Given the description of an element on the screen output the (x, y) to click on. 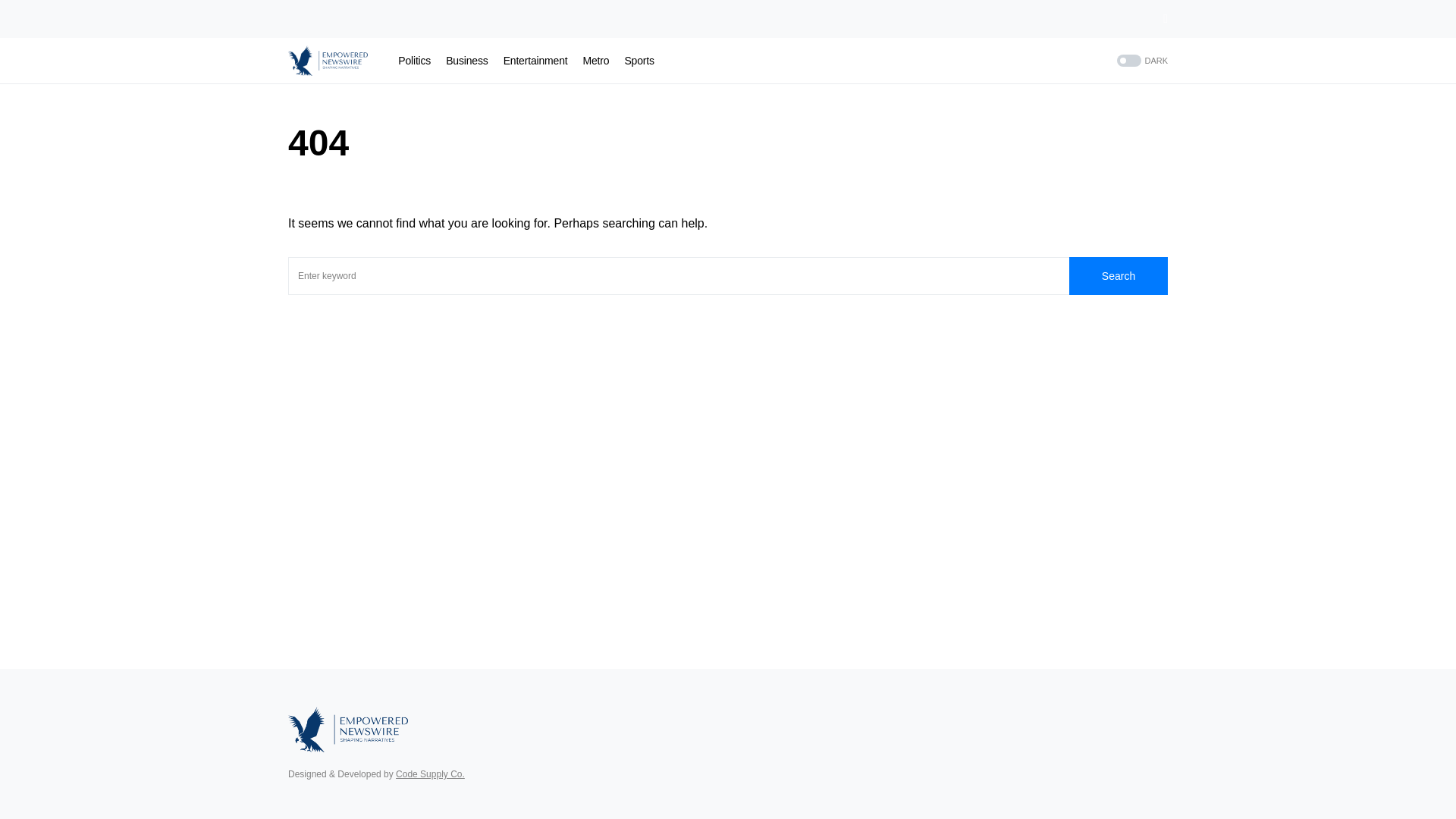
Search (1117, 275)
Entertainment (535, 60)
Code Supply Co. (430, 774)
Business (466, 60)
